Given the description of an element on the screen output the (x, y) to click on. 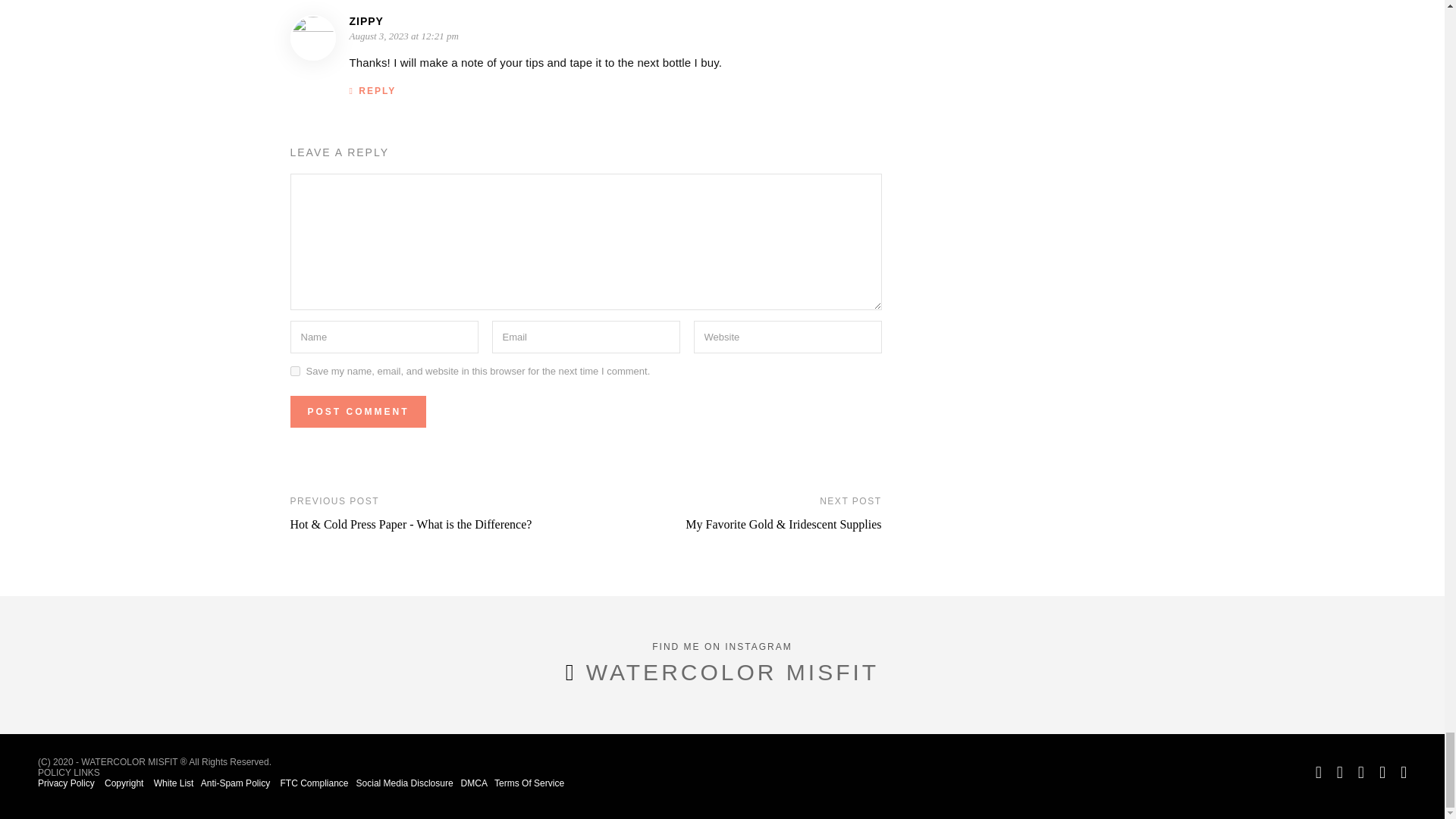
Post Comment (357, 411)
yes (294, 370)
